Given the description of an element on the screen output the (x, y) to click on. 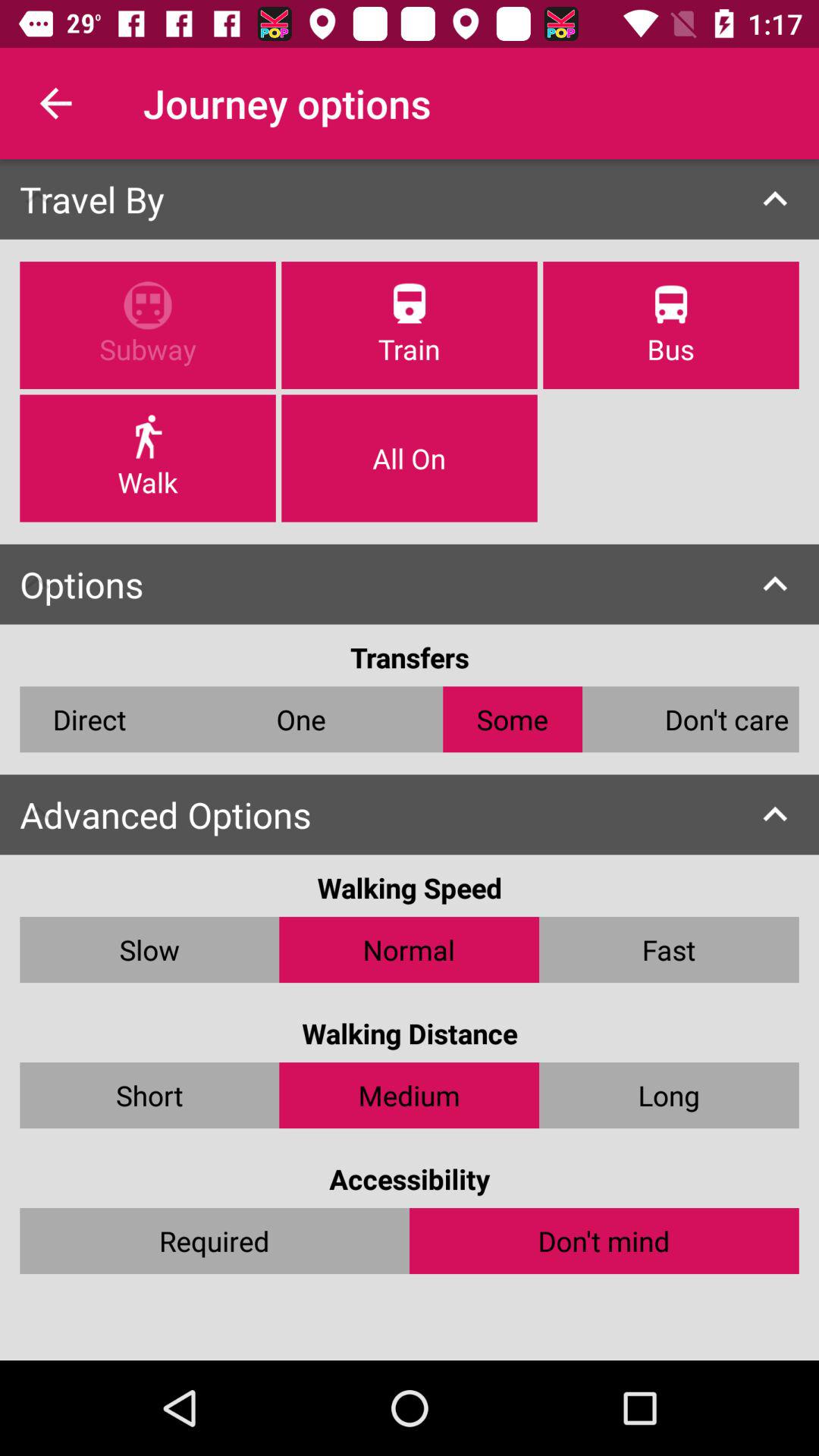
open item next to the normal icon (669, 949)
